Given the description of an element on the screen output the (x, y) to click on. 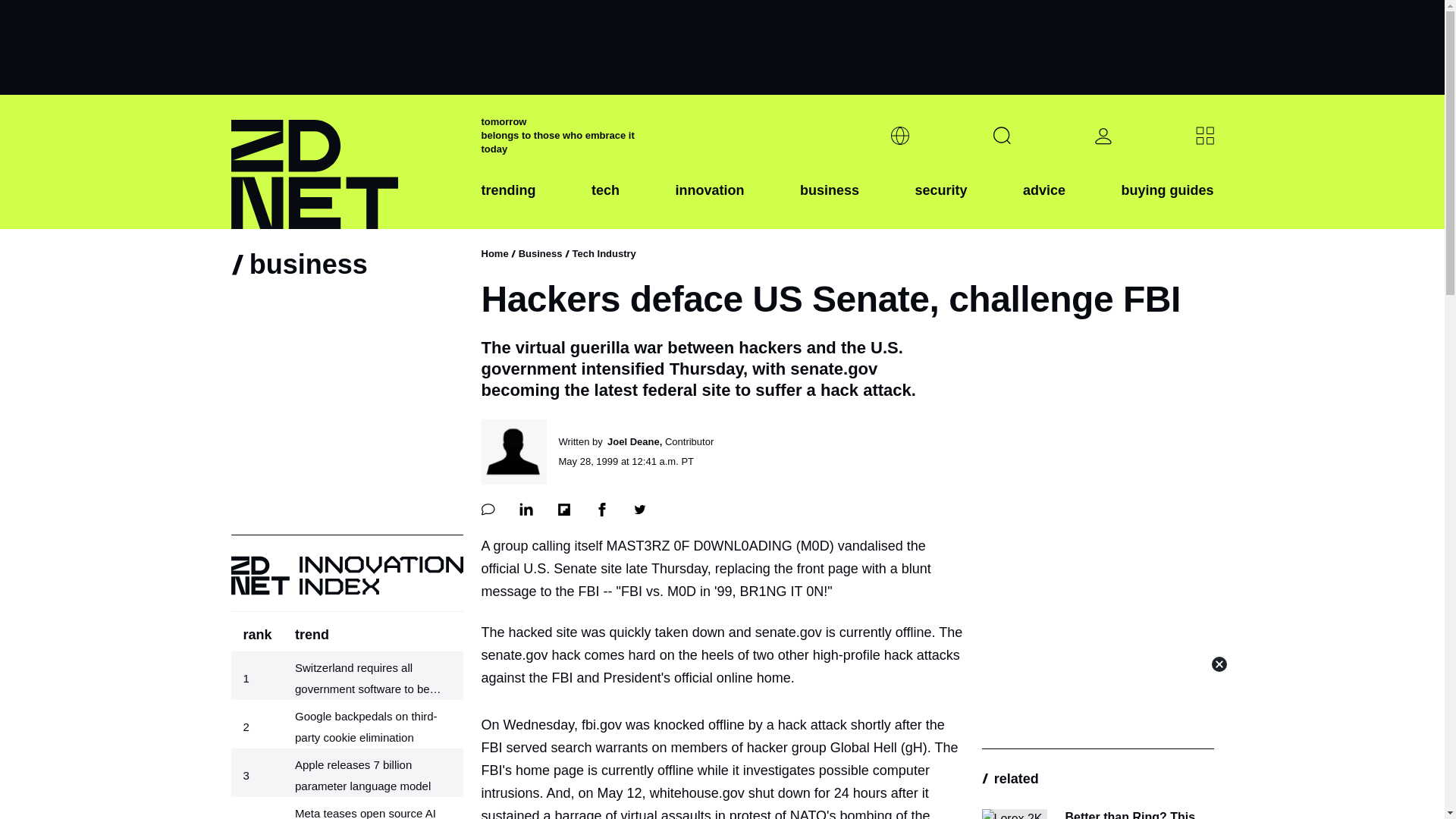
ZDNET (346, 162)
trending (507, 202)
